Given the description of an element on the screen output the (x, y) to click on. 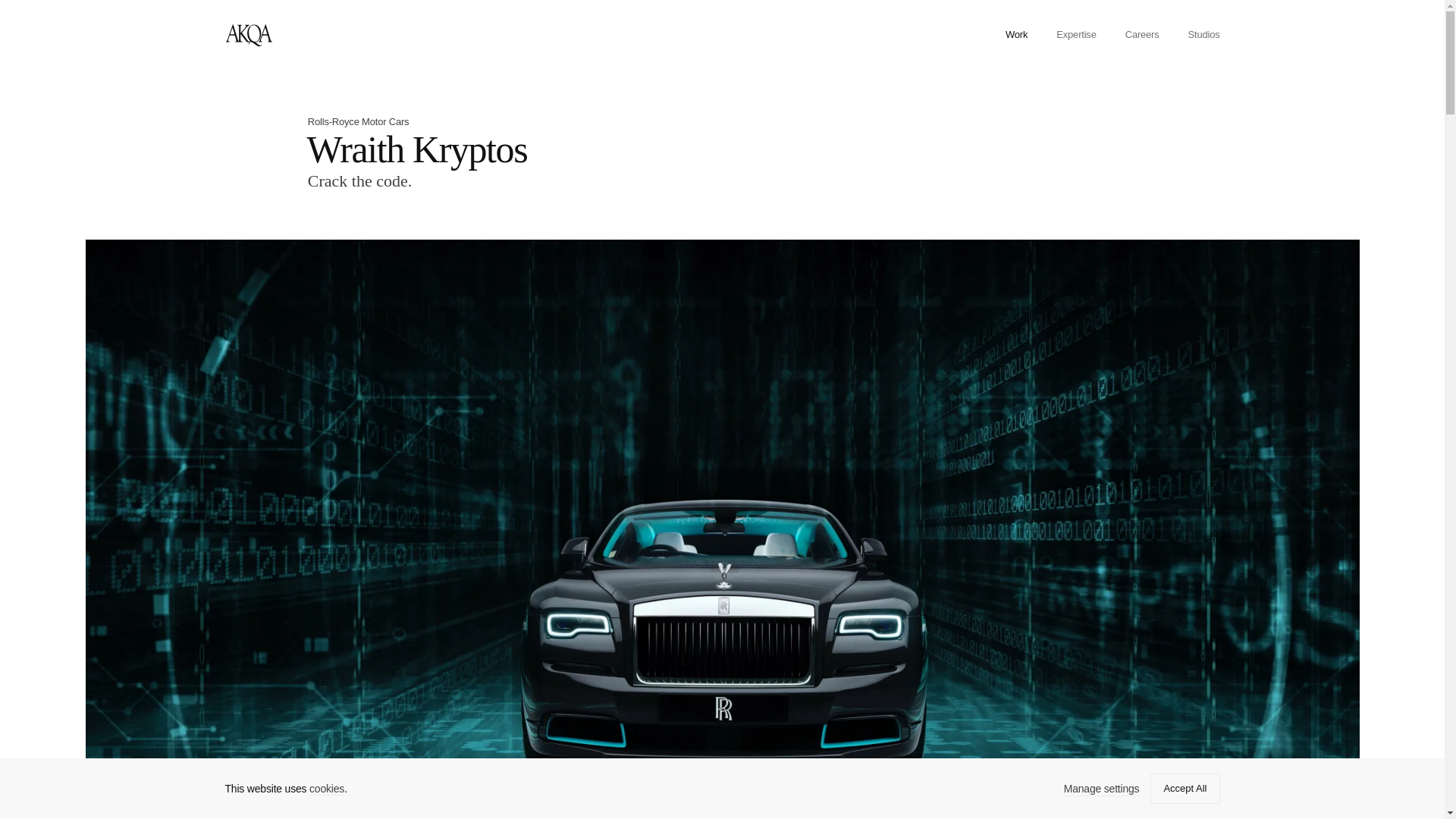
Studios (1204, 34)
cookies (325, 788)
Expertise (1076, 34)
Accept All (1185, 788)
Careers (1141, 34)
Work (1016, 34)
AKQA (247, 35)
Privacy Policy (325, 788)
